Given the description of an element on the screen output the (x, y) to click on. 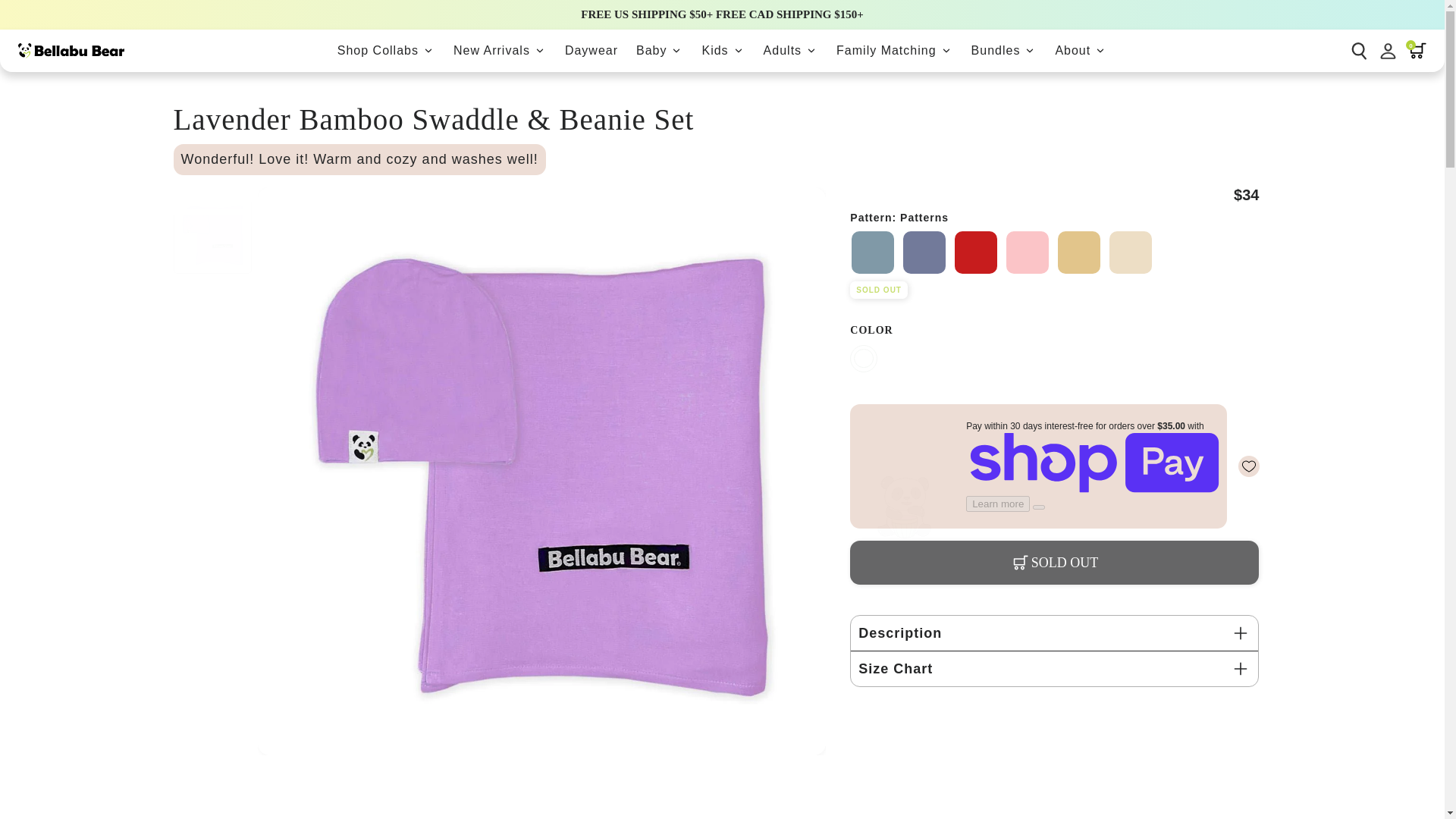
Kids (723, 50)
Family Matching (893, 50)
SOLD OUT (1054, 562)
Baby (660, 50)
About (1080, 50)
Bundles (1004, 50)
Daywear (591, 50)
Adults (790, 50)
New Arrivals (500, 50)
Shop Collabs (386, 50)
